Given the description of an element on the screen output the (x, y) to click on. 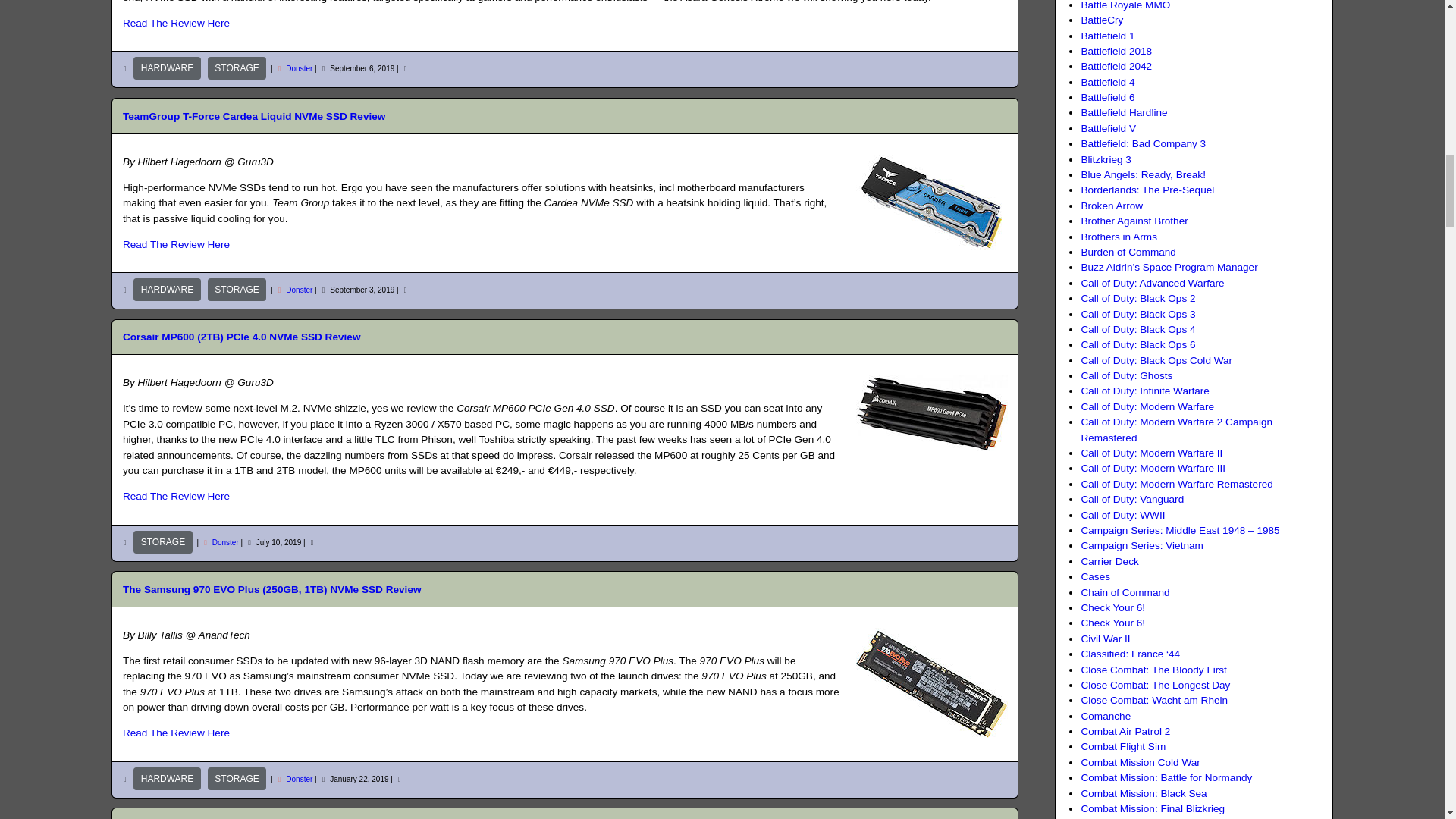
View all posts in Hardware (166, 778)
TeamGroup T-Force Cardea Liquid NVMe SSD Review (253, 116)
View all posts in Hardware (166, 67)
View all posts in Storage (237, 67)
Read The Review Here (176, 243)
View all posts in Storage (237, 289)
STORAGE (237, 289)
HARDWARE (166, 67)
STORAGE (237, 67)
Read The Review Here (176, 22)
Donster (299, 68)
View all posts in Storage (162, 541)
View all posts in Hardware (166, 289)
HARDWARE (166, 289)
